Given the description of an element on the screen output the (x, y) to click on. 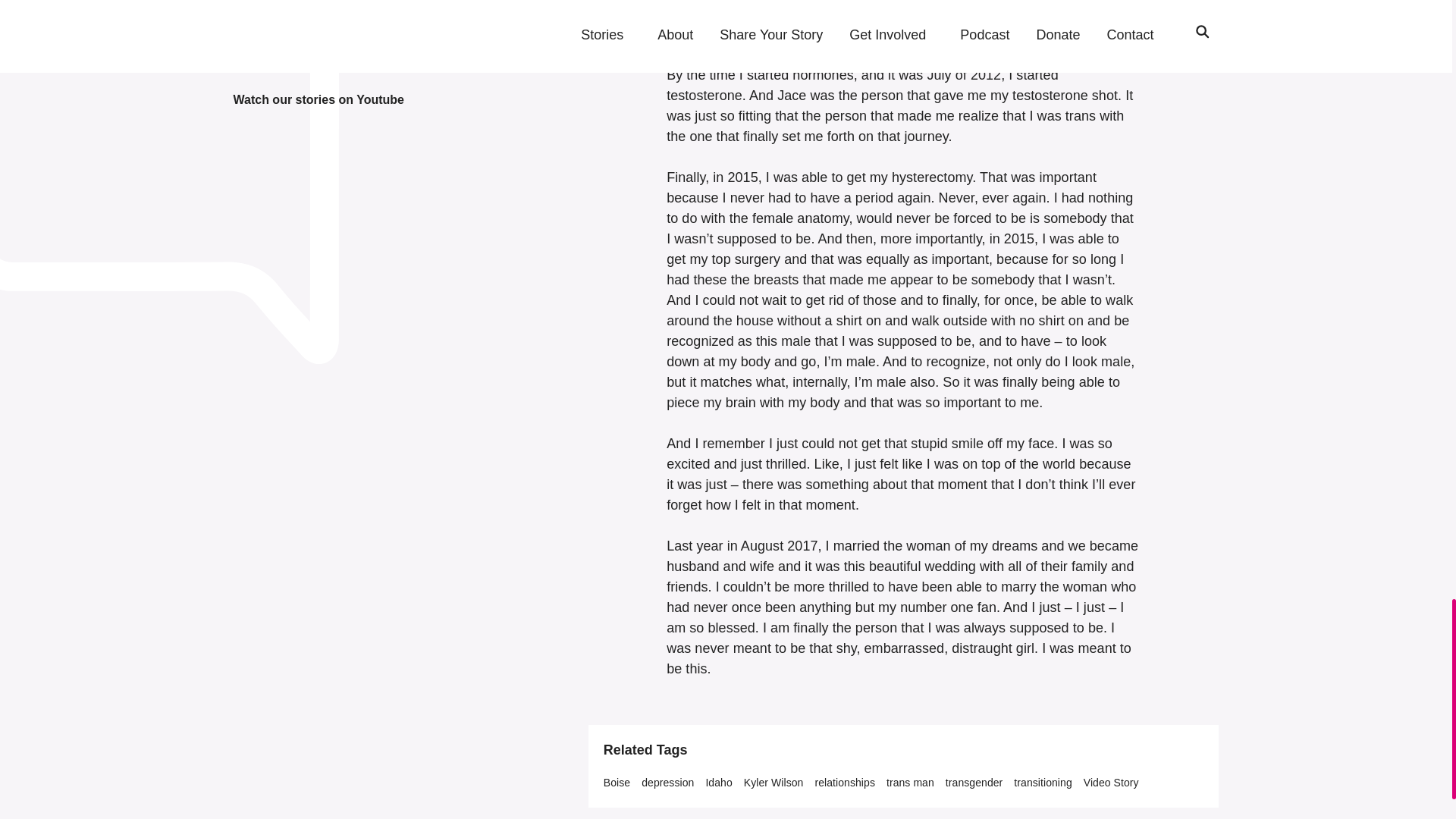
Idaho (718, 782)
transgender (973, 782)
depression (668, 782)
Video Story (1110, 782)
Kyler Wilson (773, 782)
Boise (617, 782)
transitioning (1042, 782)
trans man (910, 782)
relationships (844, 782)
